Given the description of an element on the screen output the (x, y) to click on. 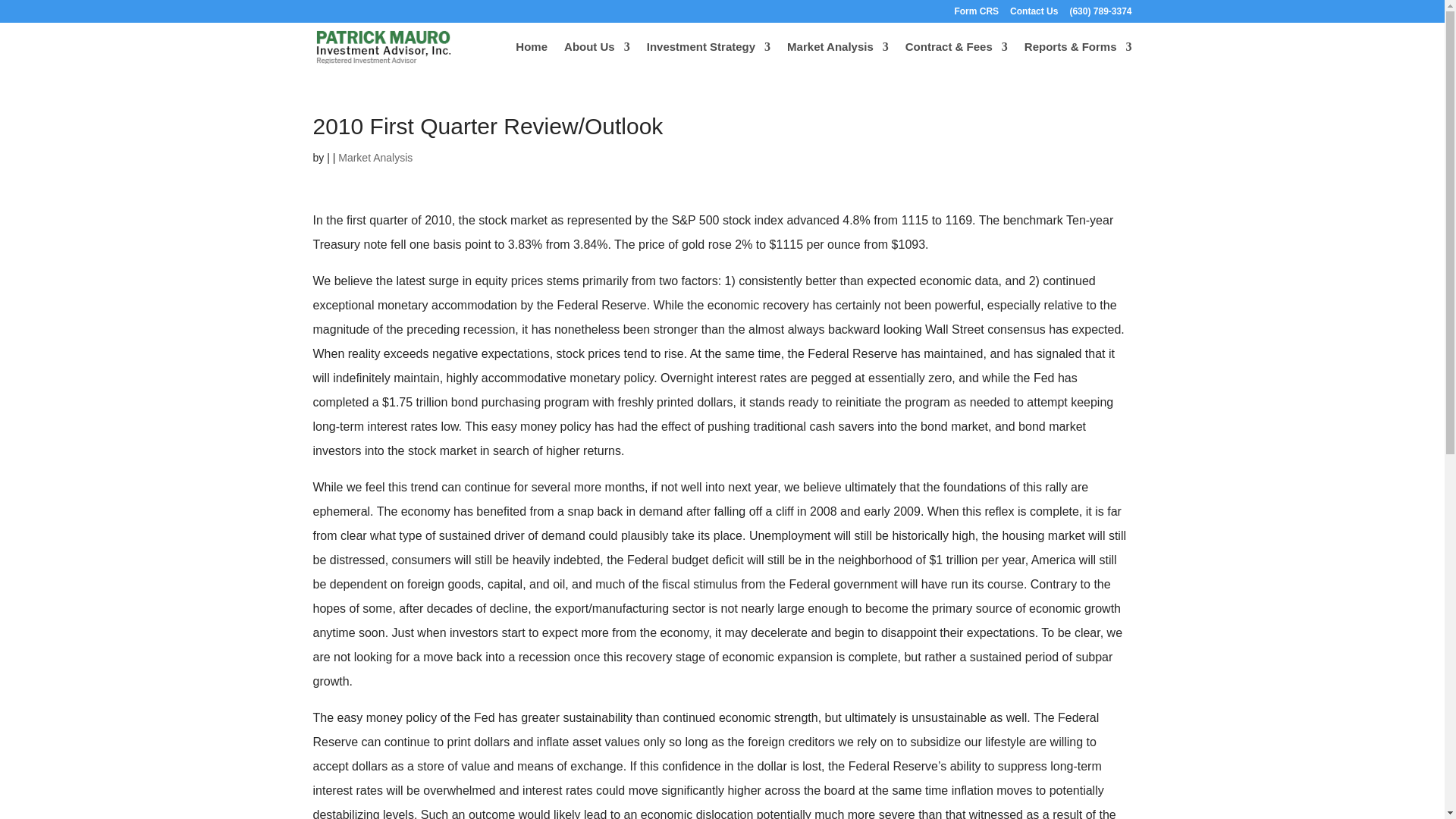
Investment Strategy (708, 56)
Market Analysis (837, 56)
Home (531, 56)
About Us (597, 56)
Contact Us (1034, 14)
Form CRS (975, 14)
